Given the description of an element on the screen output the (x, y) to click on. 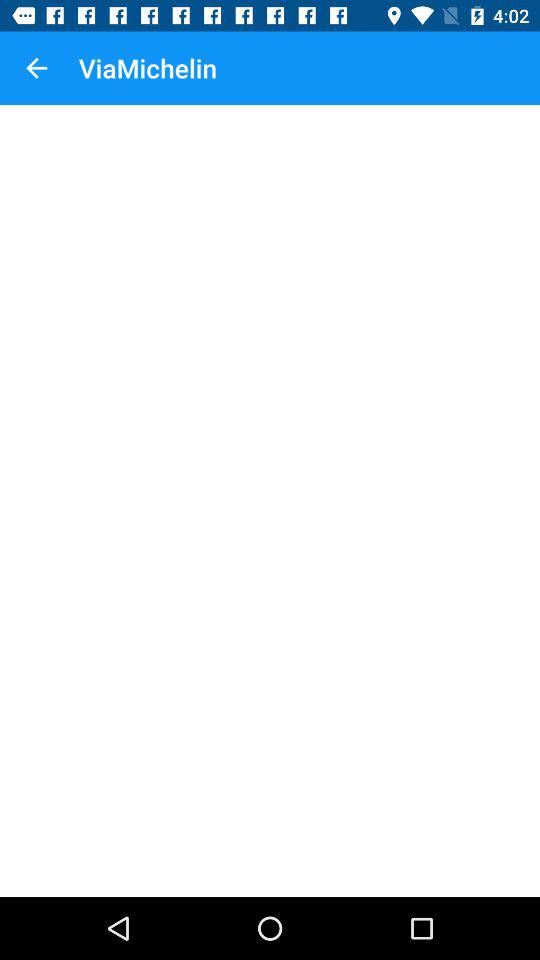
turn on the item to the left of viamichelin (36, 68)
